Given the description of an element on the screen output the (x, y) to click on. 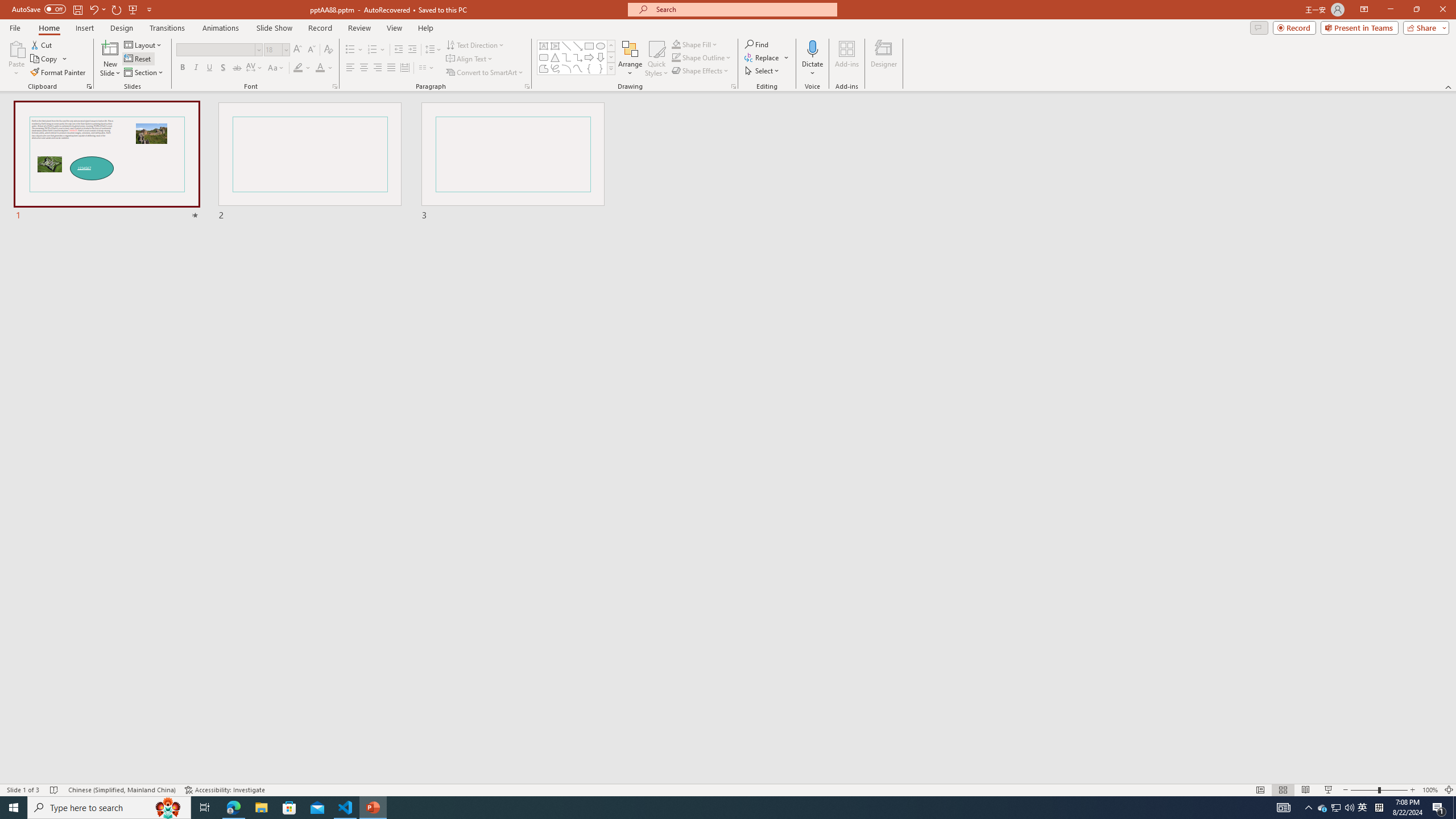
Zoom 100% (1430, 790)
Shape Outline Teal, Accent 1 (675, 56)
